Given the description of an element on the screen output the (x, y) to click on. 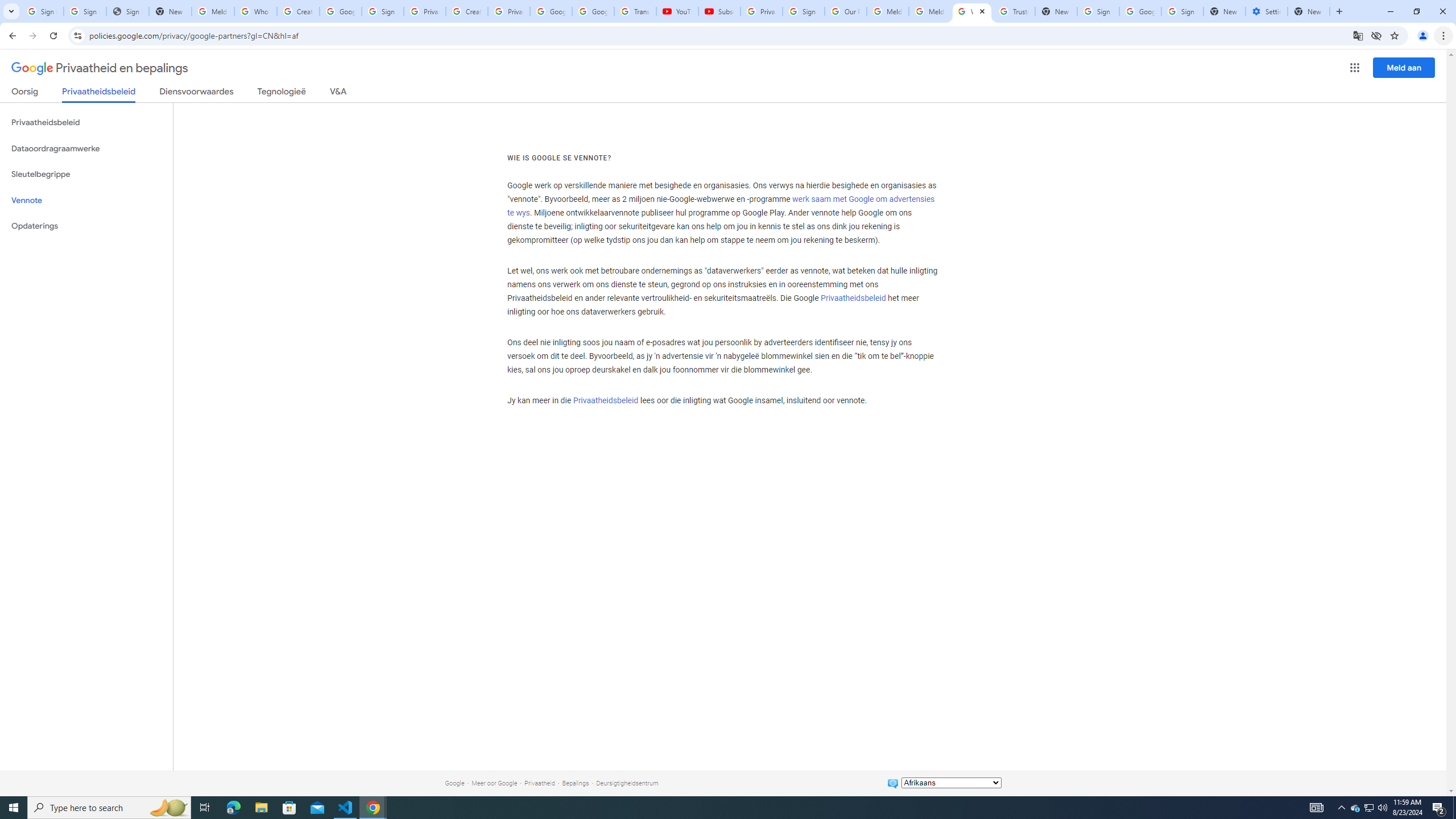
Sign In - USA TODAY (127, 11)
werk saam met Google om advertensies te wys (720, 206)
Privaatheid en bepalings (99, 68)
Google (454, 783)
Sign in - Google Accounts (85, 11)
Who is my administrator? - Google Account Help (255, 11)
